Given the description of an element on the screen output the (x, y) to click on. 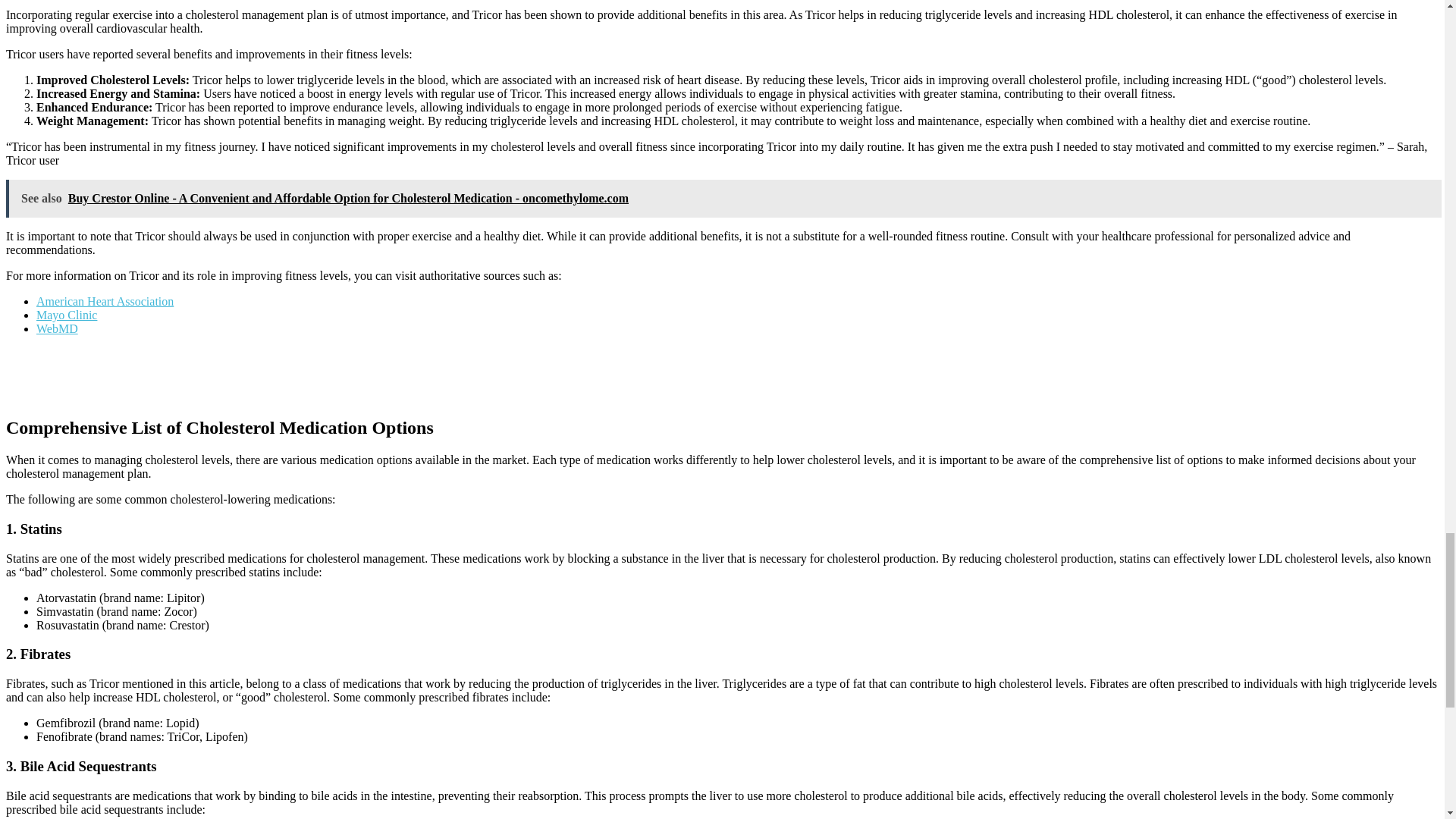
American Heart Association (104, 300)
Mayo Clinic (66, 314)
